Given the description of an element on the screen output the (x, y) to click on. 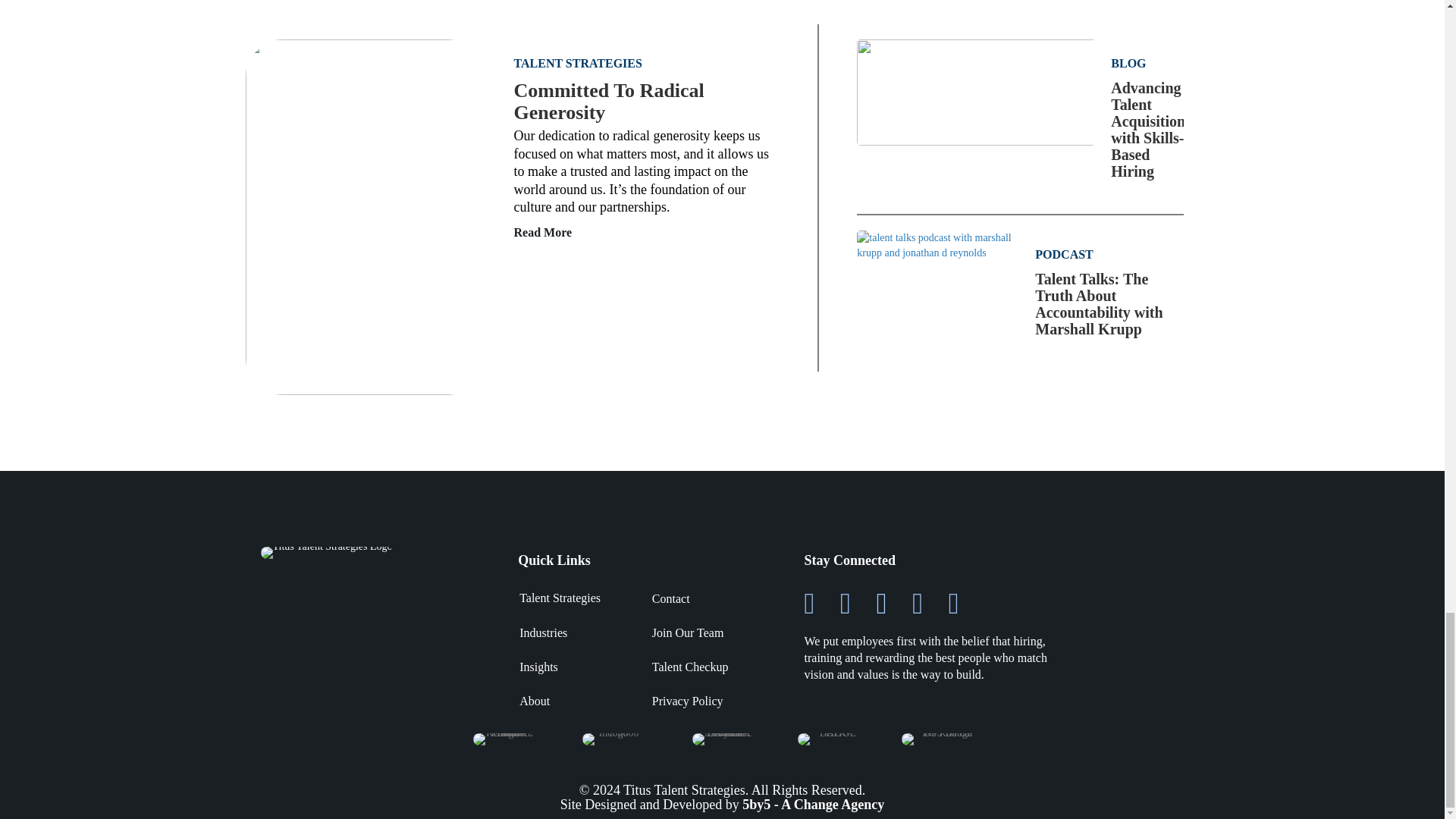
2023 Best of Milwaukee Crystal Award (722, 739)
SHRM ALL WHITE (503, 739)
Read More (542, 231)
Committed To Radical Generosity (608, 101)
EOS-WeRunOnEOS-Badge (940, 739)
ETK-BADGE (831, 739)
Advancing Talent Acquisition with Skills-Based Hiring (976, 91)
Committed To Radical Generosity (364, 215)
